Given the description of an element on the screen output the (x, y) to click on. 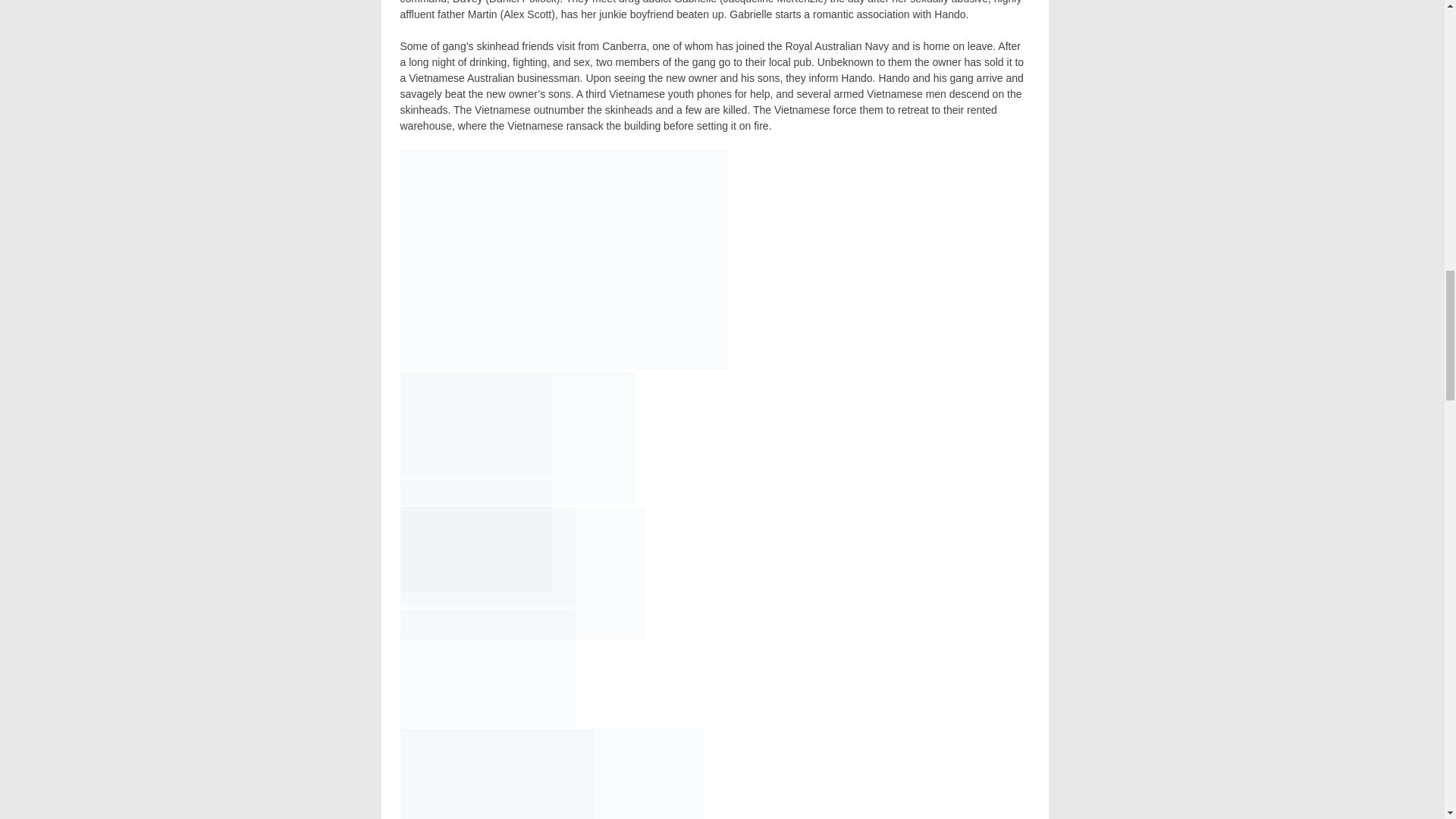
ea67db7a7a207b93bf466cfed030d4fe (497, 773)
02132127031919cdac4def716c6c5a51 (487, 668)
UDPb4 (487, 556)
romperstomper2 (475, 535)
168762.1020.A (564, 259)
168766.1020.A (475, 423)
